Given the description of an element on the screen output the (x, y) to click on. 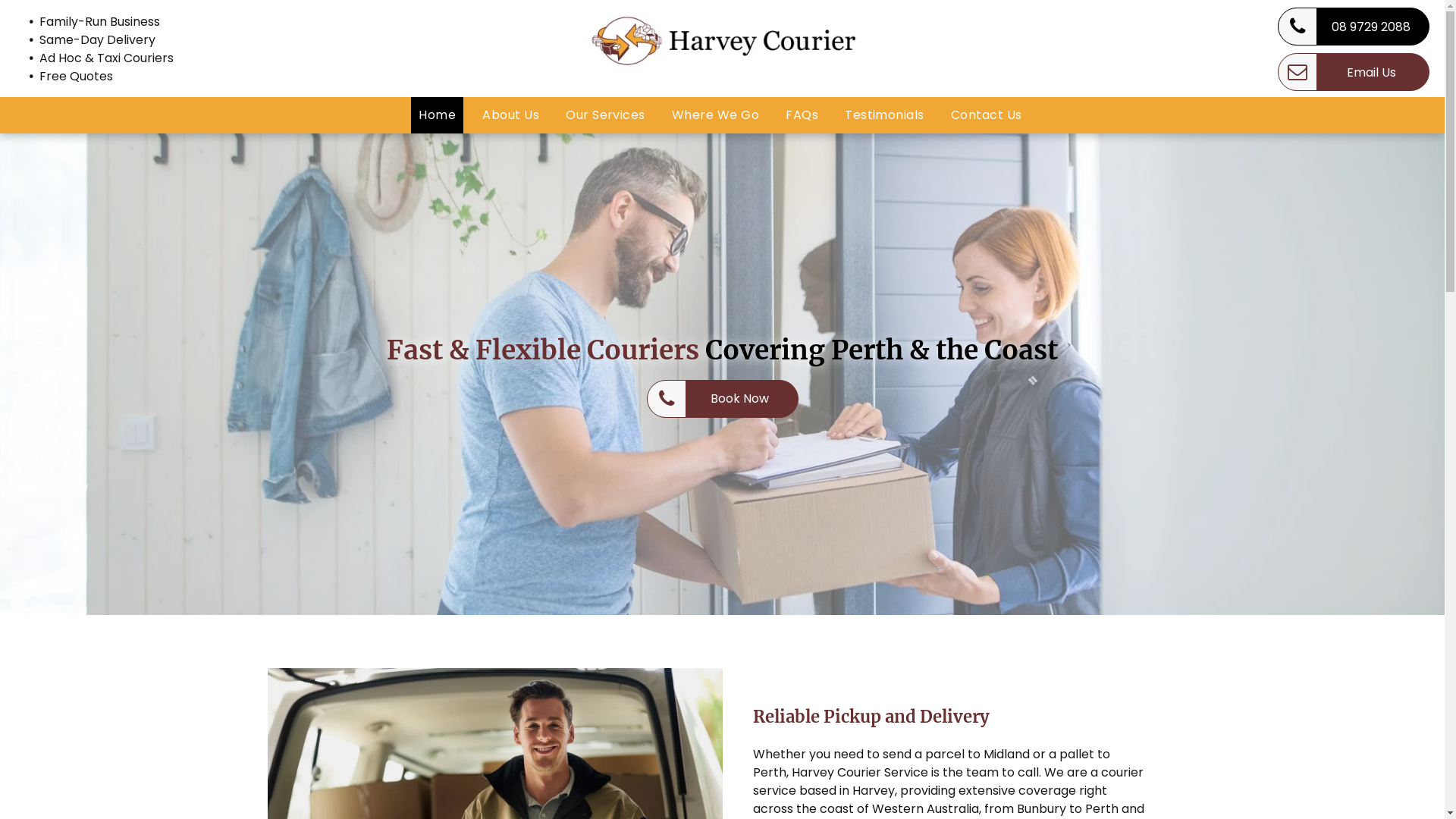
Book Now Element type: text (721, 398)
Home Element type: text (437, 115)
Testimonials Element type: text (884, 115)
FAQs Element type: text (801, 115)
08 9729 2088 Element type: text (1353, 26)
Contact Us Element type: text (986, 115)
About Us Element type: text (510, 115)
Email Us Element type: text (1353, 72)
Where We Go Element type: text (715, 115)
Our Services Element type: text (605, 115)
